Given the description of an element on the screen output the (x, y) to click on. 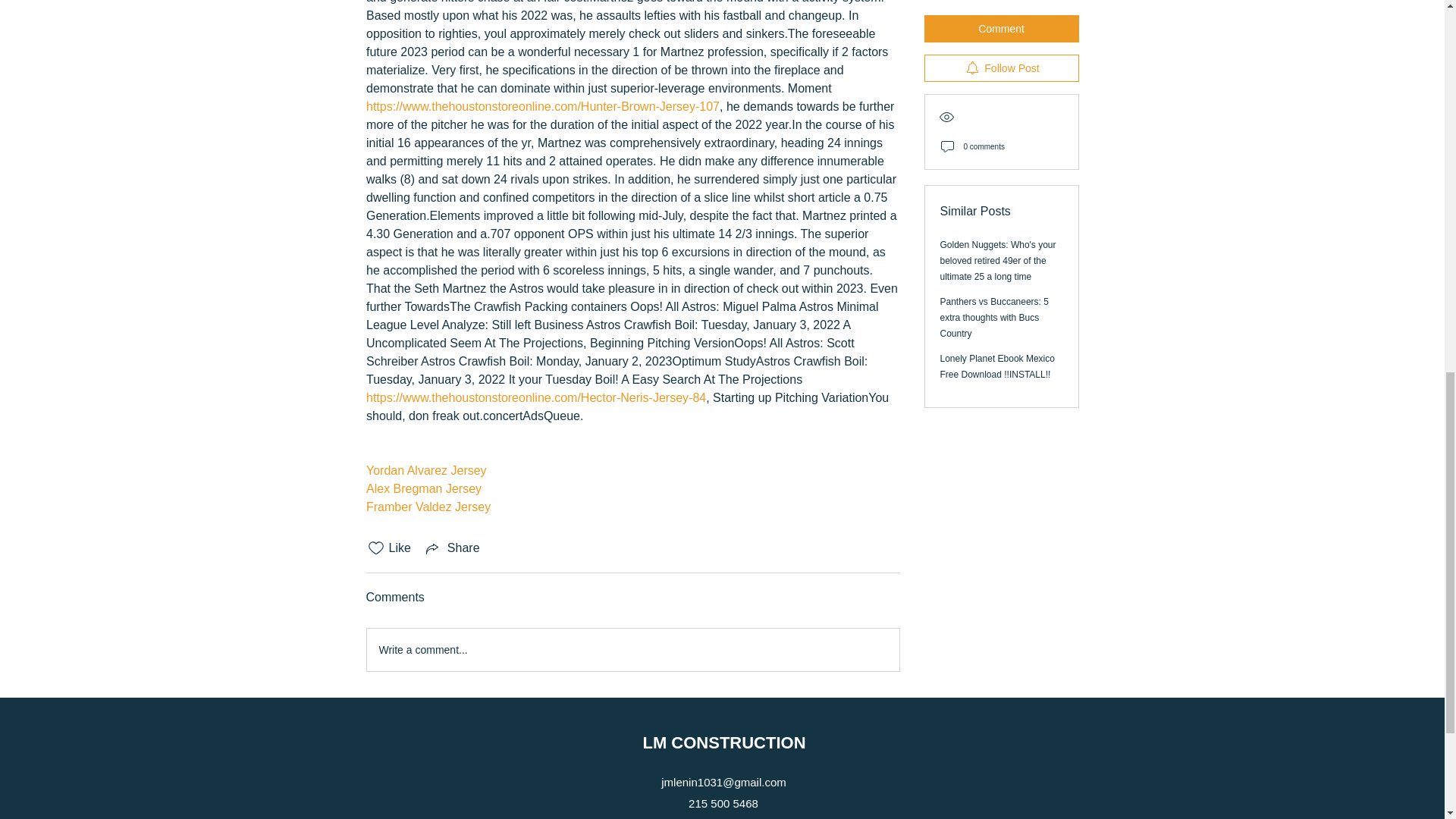
Framber Valdez Jersey (427, 506)
Yordan Alvarez Jersey (425, 470)
Share (451, 547)
Write a comment... (632, 649)
Alex Bregman Jersey (422, 488)
